Given the description of an element on the screen output the (x, y) to click on. 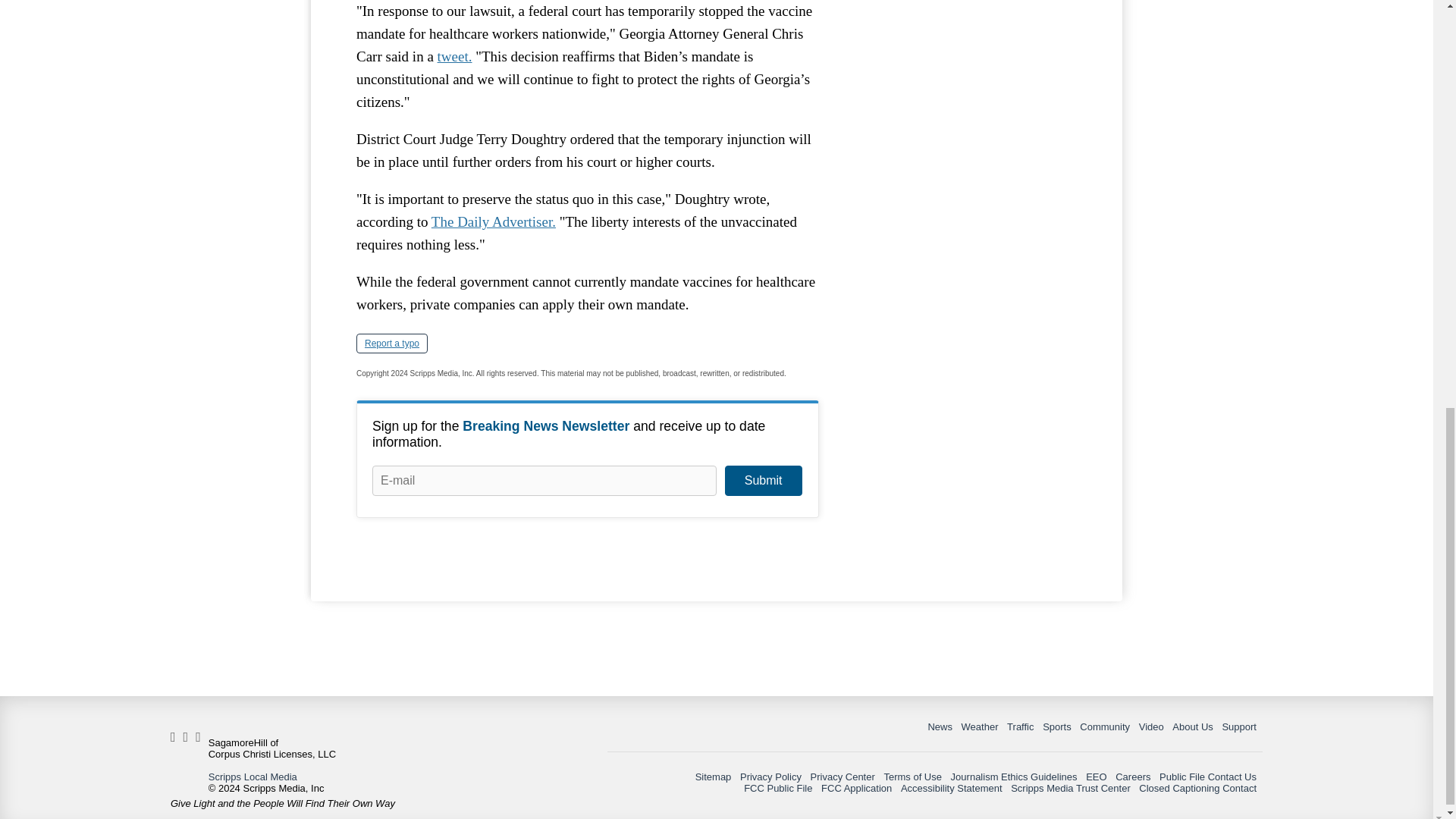
Submit (763, 481)
